Given the description of an element on the screen output the (x, y) to click on. 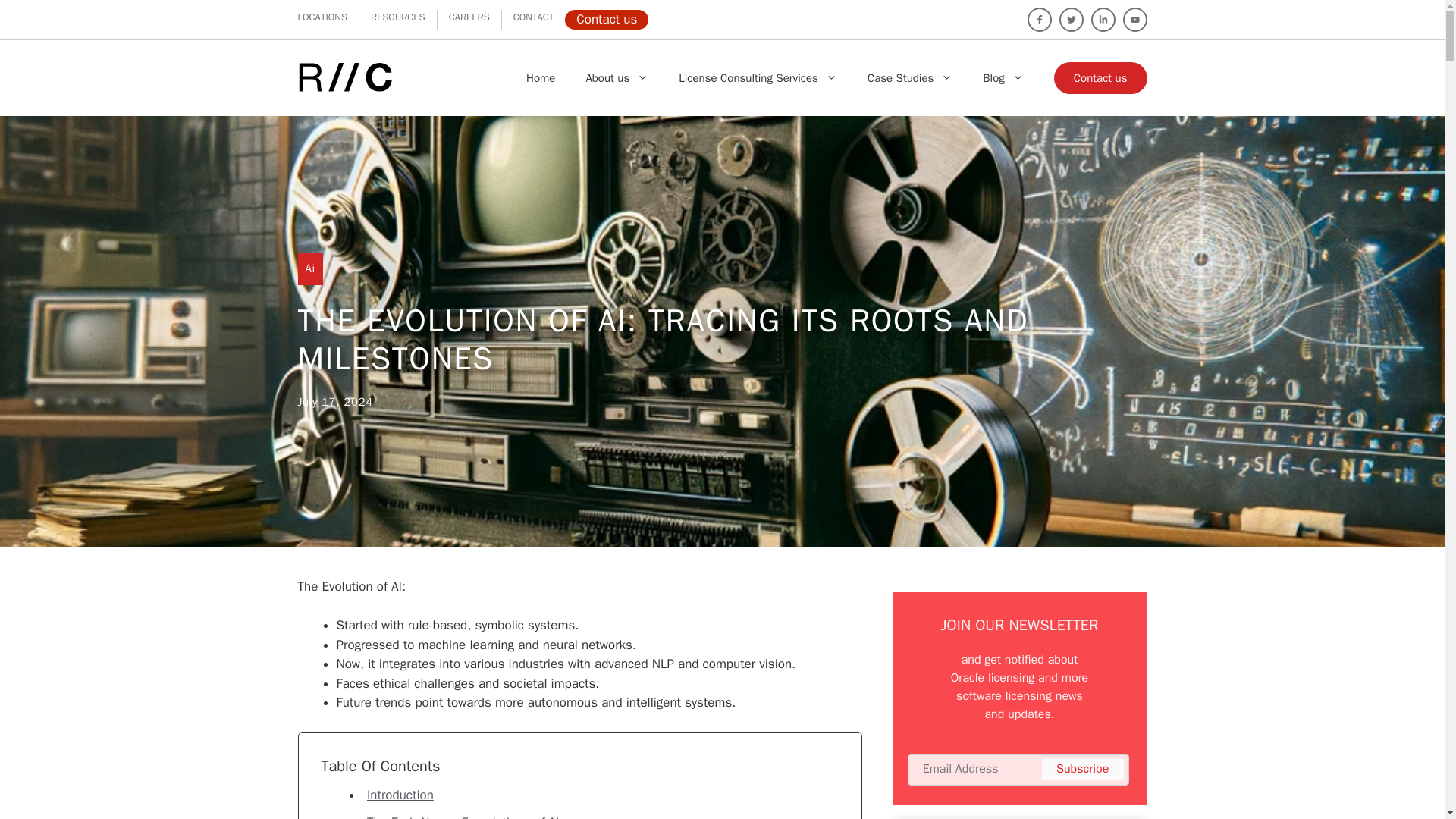
About us (616, 77)
LOCATIONS (321, 16)
Subscribe (1082, 769)
CAREERS (468, 16)
CONTACT (533, 16)
Careers (468, 16)
Contact (533, 16)
License Consulting Services (757, 77)
Resources (398, 16)
 Home (539, 77)
Location (321, 16)
RESOURCES (398, 16)
